Given the description of an element on the screen output the (x, y) to click on. 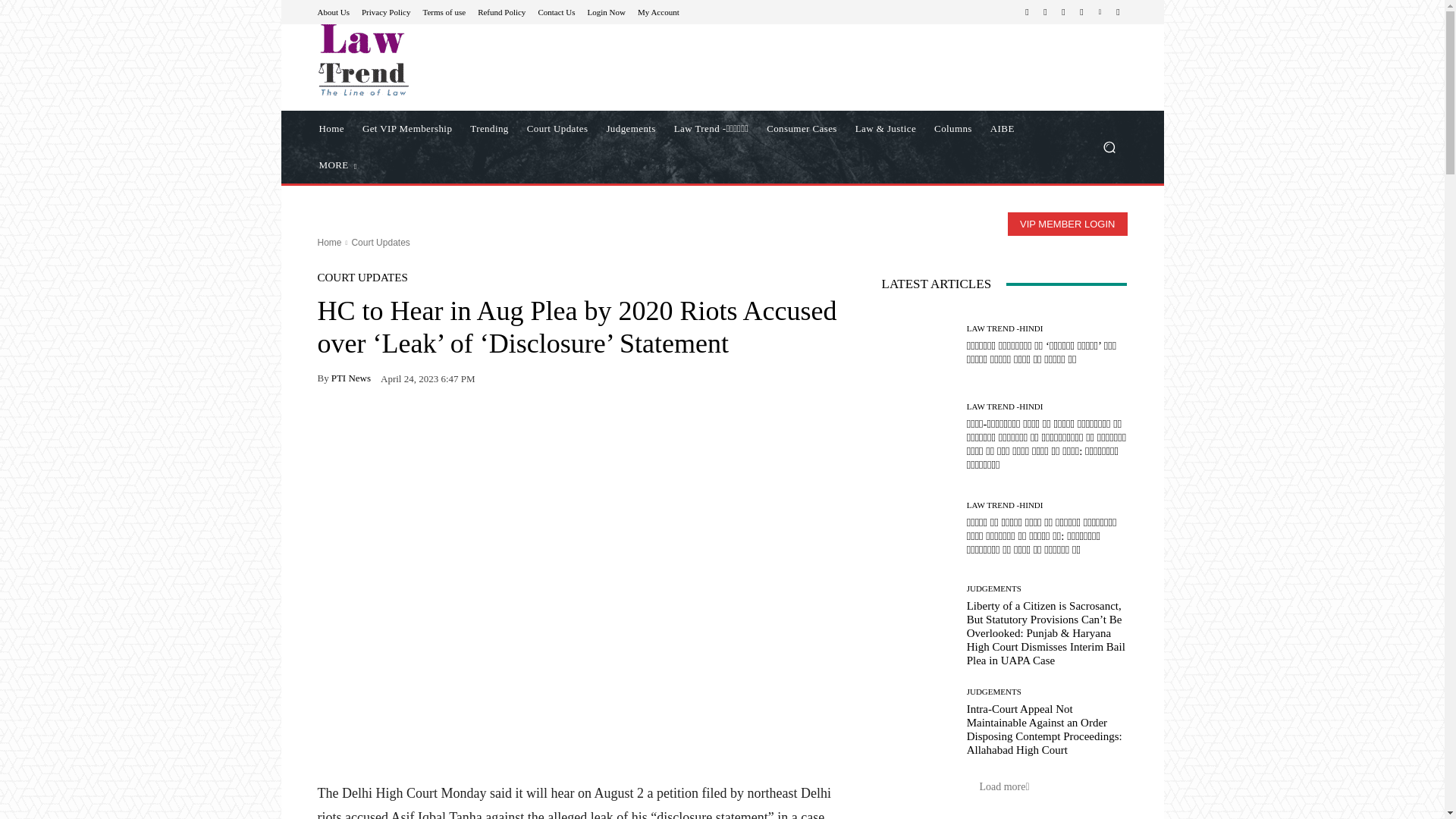
Telegram (1062, 12)
Youtube (1117, 12)
Privacy Policy (385, 11)
Law Trend- Legal News Website (362, 59)
Contact Us (556, 11)
Facebook (1026, 12)
Refund Policy (501, 11)
About Us (333, 11)
Instagram (1044, 12)
Vimeo (1099, 12)
